Given the description of an element on the screen output the (x, y) to click on. 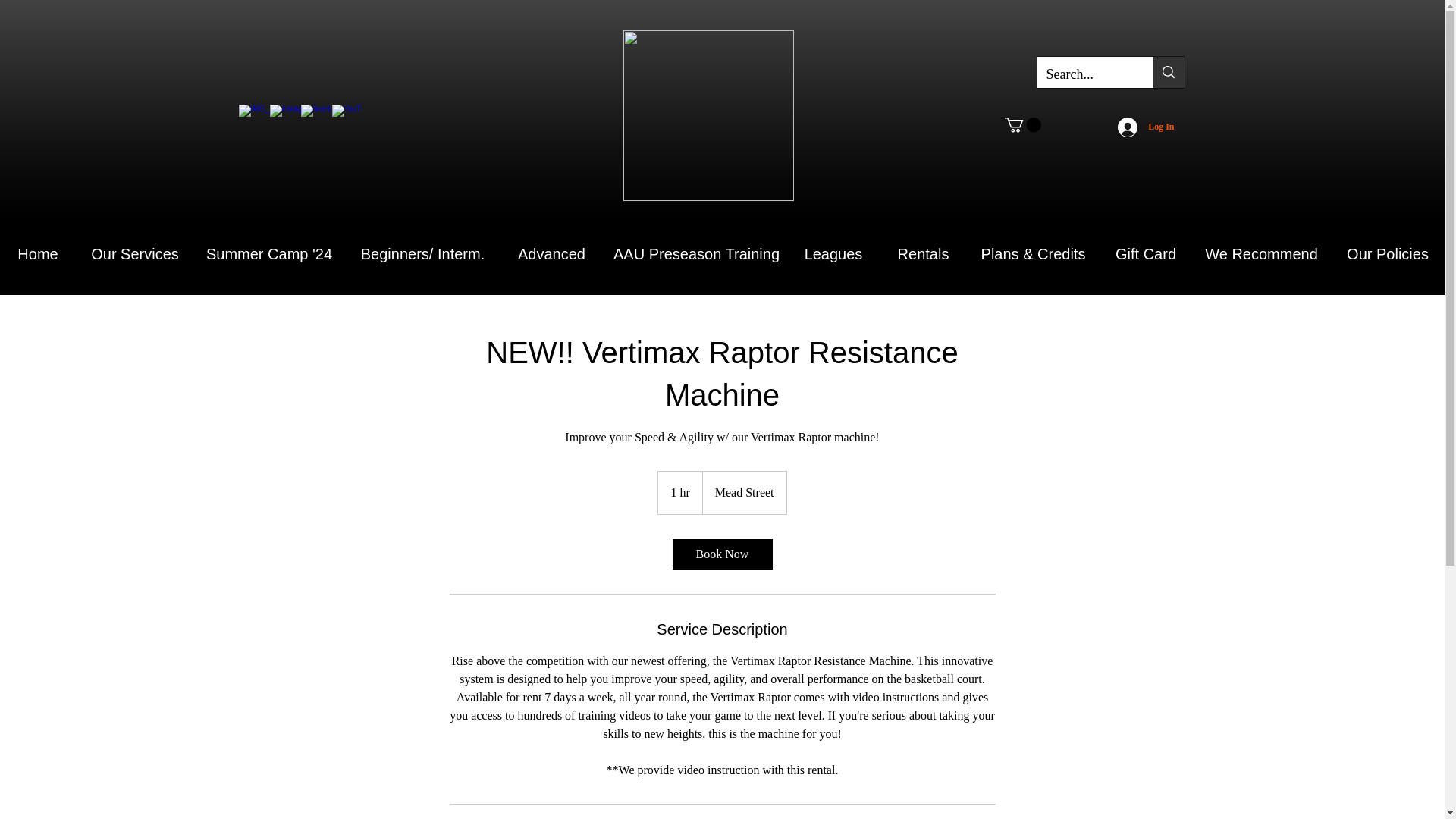
Summer Camp '24 (268, 253)
Home (37, 253)
Log In (1145, 126)
Rentals (922, 253)
Leagues (833, 253)
Our Services (134, 253)
Book Now (721, 553)
Advanced (551, 253)
AAU Preseason Training (694, 253)
Gift Card (1145, 253)
We Recommend (1261, 253)
